Given the description of an element on the screen output the (x, y) to click on. 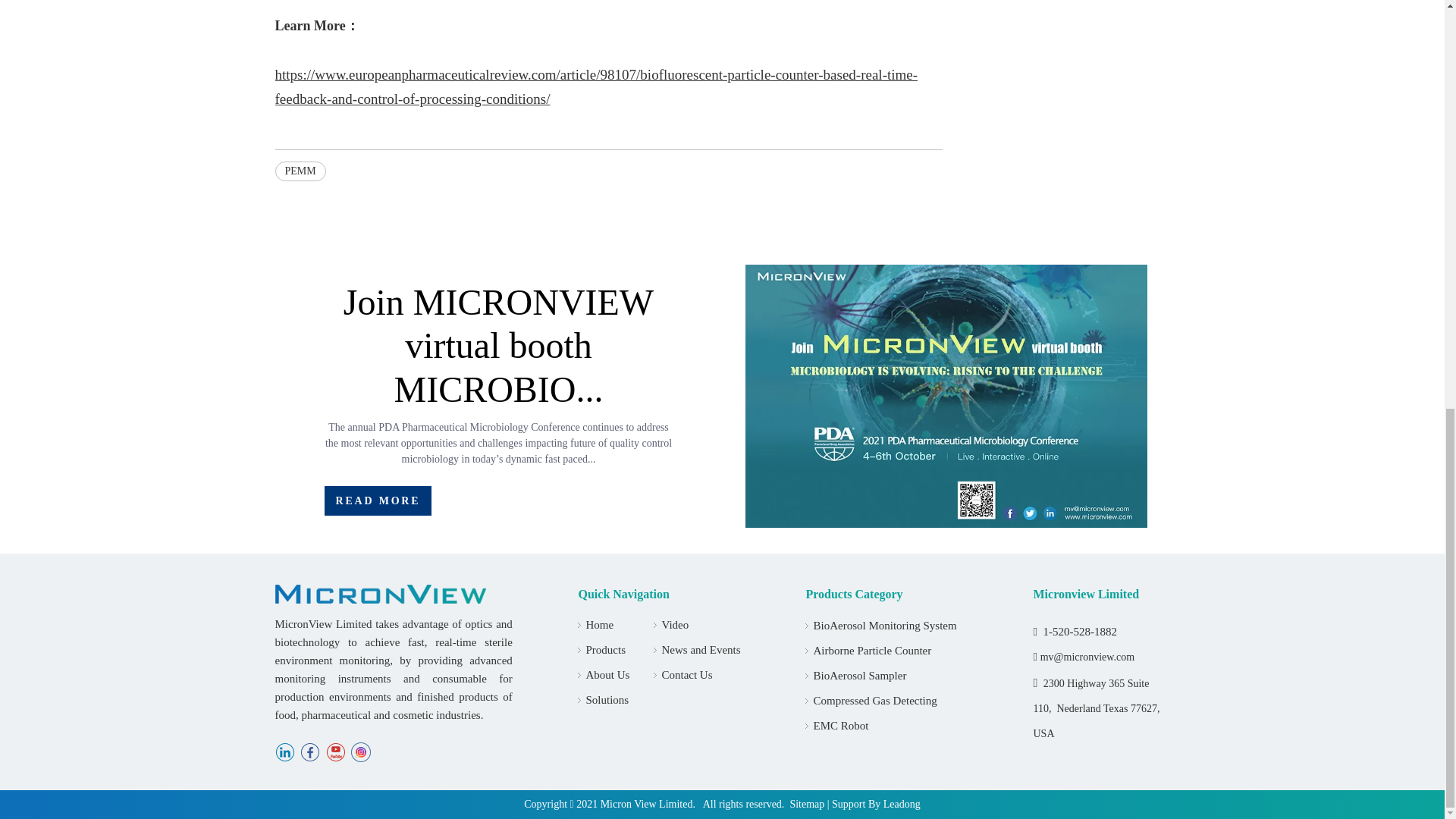
Video (674, 624)
BioAerosol Monitoring System (884, 625)
Products (605, 649)
Compressed Gas Detecting (874, 700)
Solutions (606, 699)
About Us (606, 674)
BioAerosol Sampler (858, 675)
Contact Us (686, 674)
Facebook (308, 751)
LOGO (379, 593)
